Given the description of an element on the screen output the (x, y) to click on. 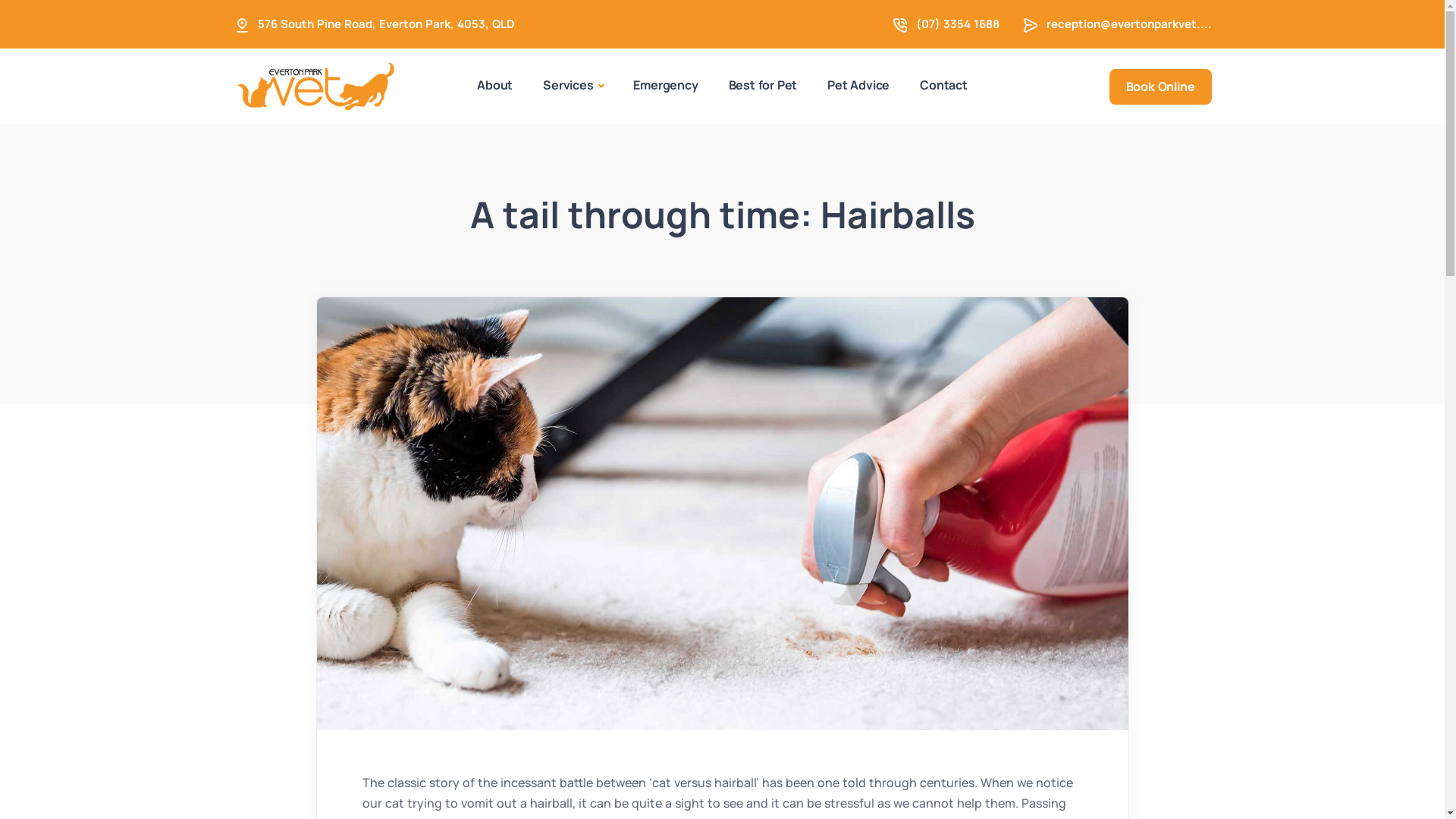
Emergency Element type: text (665, 84)
Book Online Element type: text (1160, 86)
576 South Pine Road, Everton Park, 4053, QLD Element type: text (385, 23)
Services Element type: text (572, 86)
About Element type: text (494, 84)
reception@evertonparkvet.... Element type: text (1128, 23)
Pet Advice Element type: text (858, 84)
(07) 3354 1688 Element type: text (957, 23)
Contact Element type: text (943, 84)
Best for Pet Element type: text (762, 84)
